Given the description of an element on the screen output the (x, y) to click on. 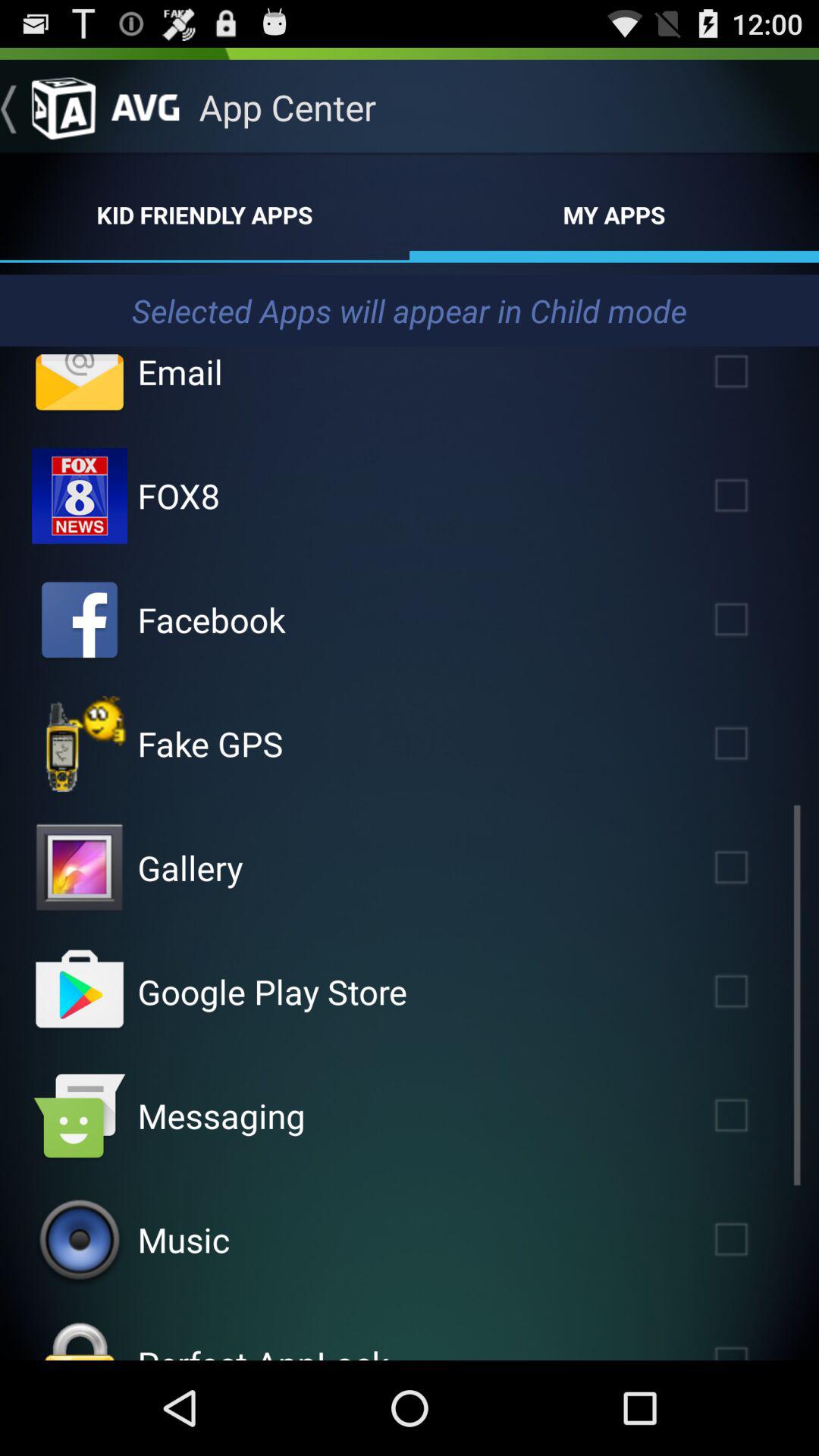
swipe to the fox8 item (178, 495)
